Given the description of an element on the screen output the (x, y) to click on. 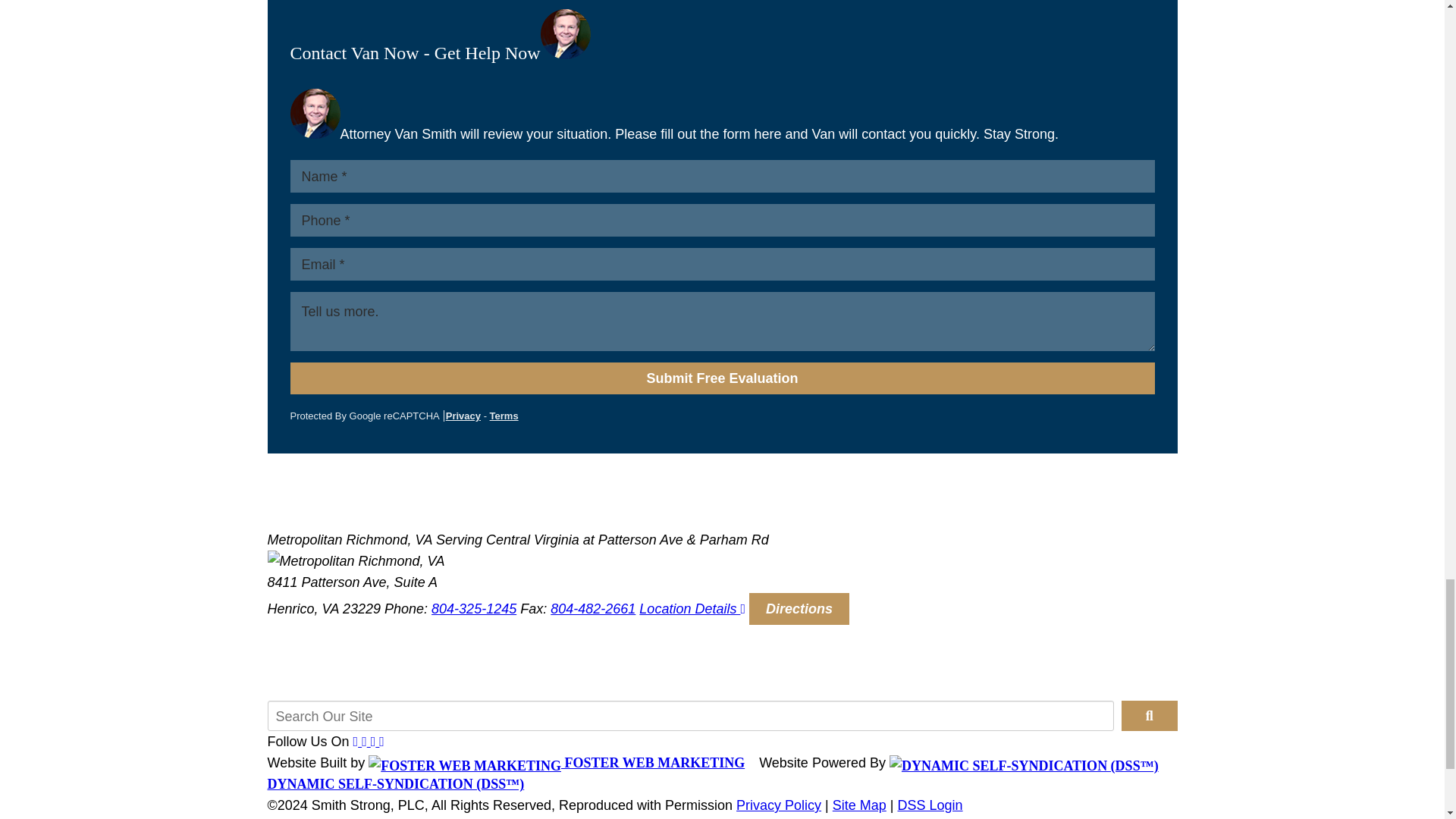
Facebook (355, 741)
Search (1148, 716)
Instagram (381, 741)
Twitter (363, 741)
YouTube (373, 741)
